Given the description of an element on the screen output the (x, y) to click on. 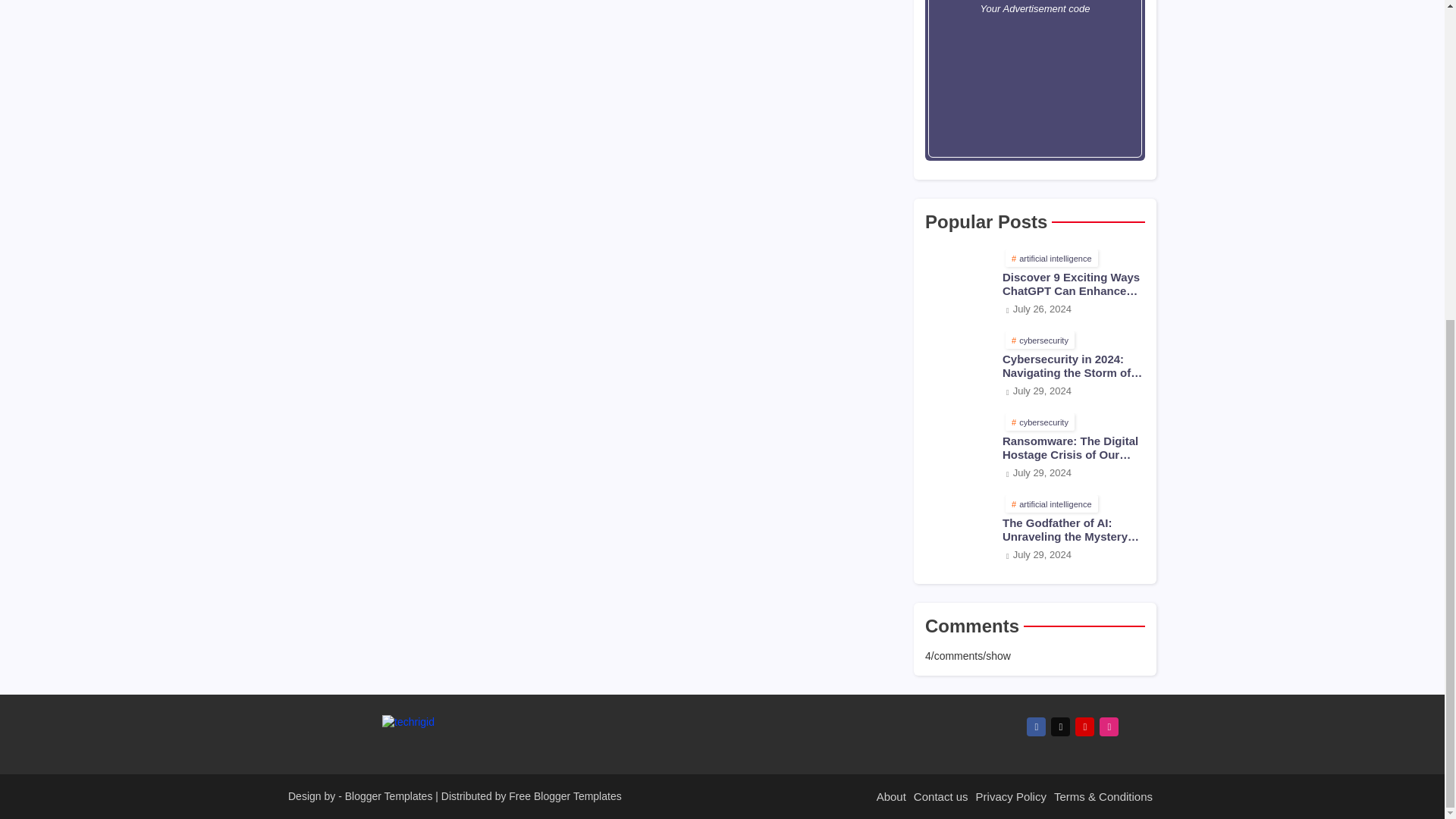
About (891, 796)
Ransomware: The Digital Hostage Crisis of Our Time (1073, 447)
Blogger Templates (388, 796)
Your Advertisement code (1034, 80)
